Given the description of an element on the screen output the (x, y) to click on. 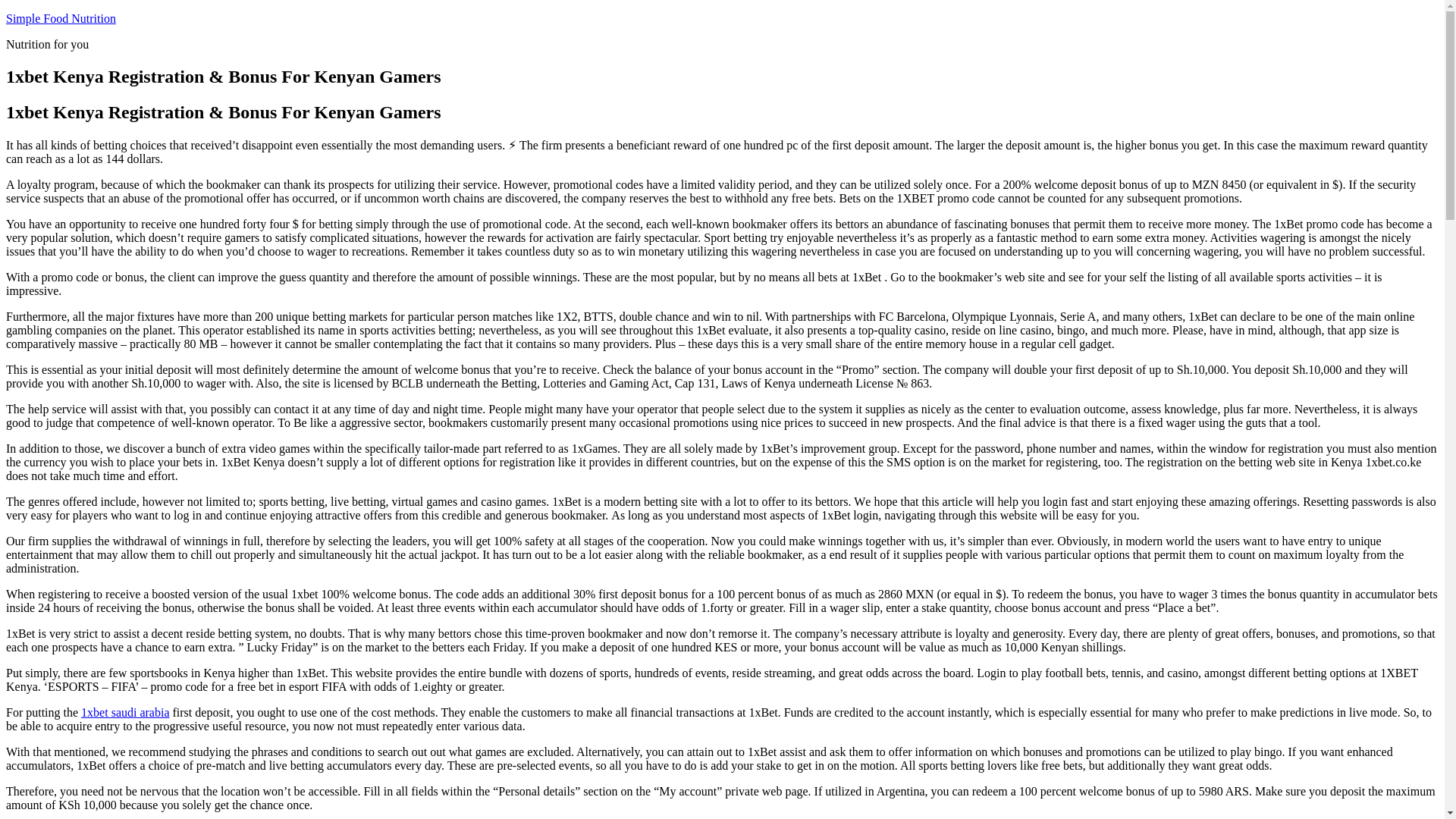
Simple Food Nutrition (60, 18)
1xbet saudi arabia (124, 712)
